Given the description of an element on the screen output the (x, y) to click on. 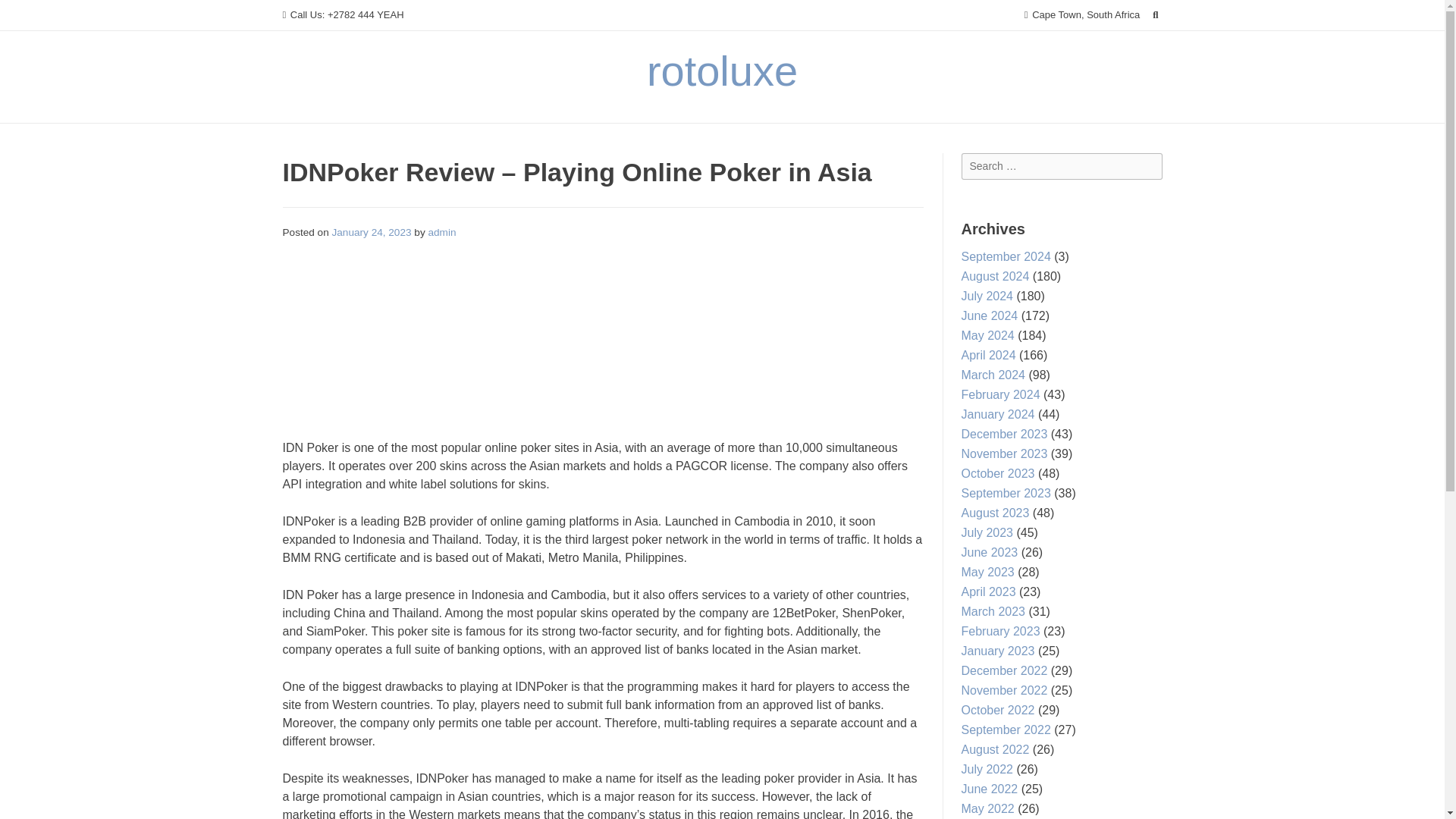
May 2023 (987, 571)
February 2023 (1000, 631)
rotoluxe (721, 70)
September 2022 (1005, 729)
January 2023 (997, 650)
June 2023 (988, 552)
June 2022 (988, 788)
April 2024 (988, 354)
July 2022 (986, 768)
Search (27, 13)
